Given the description of an element on the screen output the (x, y) to click on. 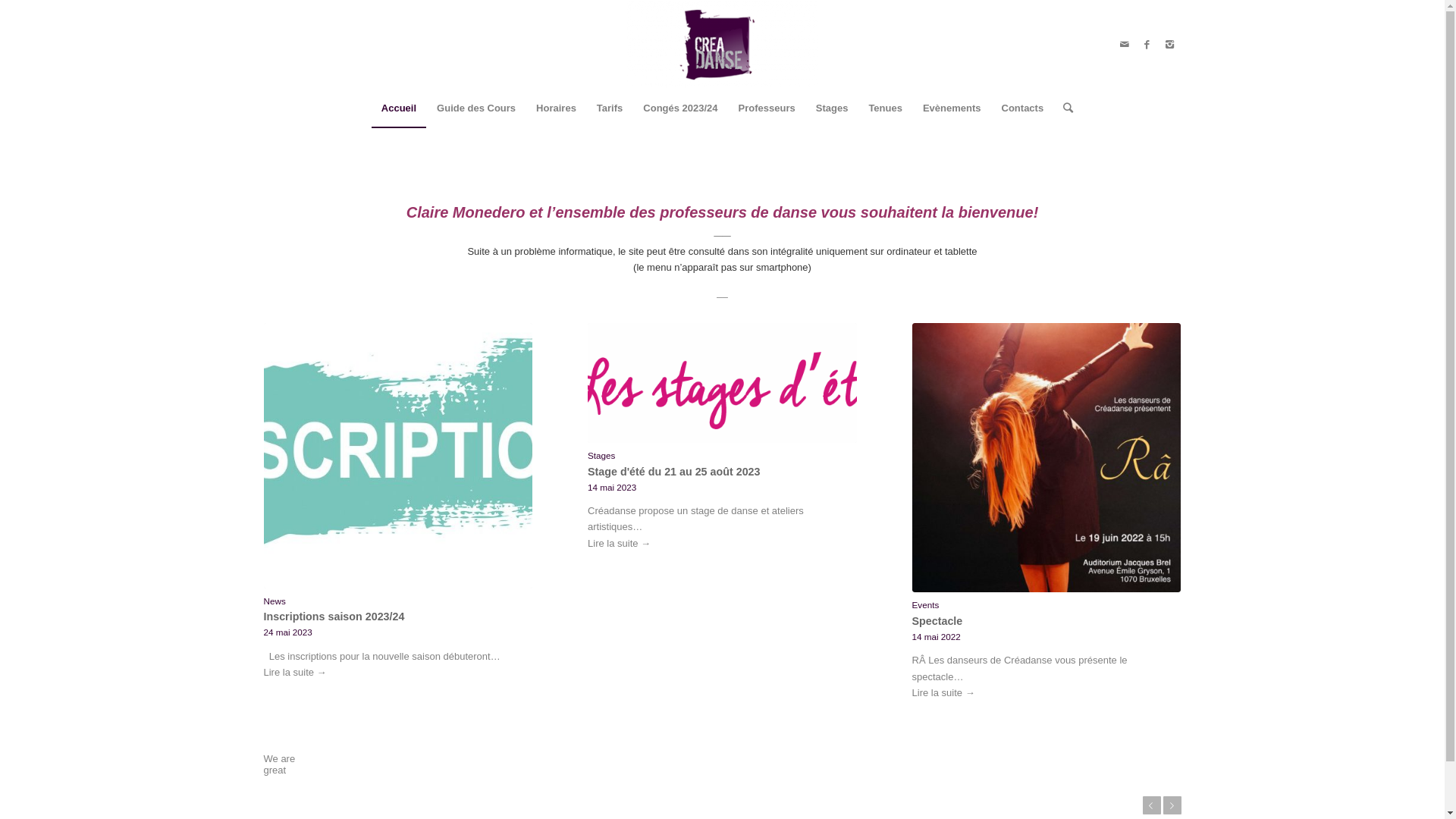
Suivant Element type: text (1172, 805)
Horaires Element type: text (555, 108)
Inscriptions saison 2023/24 Element type: text (333, 616)
Facebook Element type: hover (1146, 44)
Mail Element type: hover (1124, 44)
Stages Element type: text (601, 455)
Tarifs Element type: text (609, 108)
Tenues Element type: text (884, 108)
News Element type: text (274, 600)
Instagram Element type: hover (1169, 44)
Spectacle Element type: text (937, 621)
Events Element type: text (925, 604)
Accueil Element type: text (398, 108)
Contacts Element type: text (1022, 108)
Professeurs Element type: text (766, 108)
Stages Element type: text (831, 108)
Guide des Cours Element type: text (475, 108)
